Given the description of an element on the screen output the (x, y) to click on. 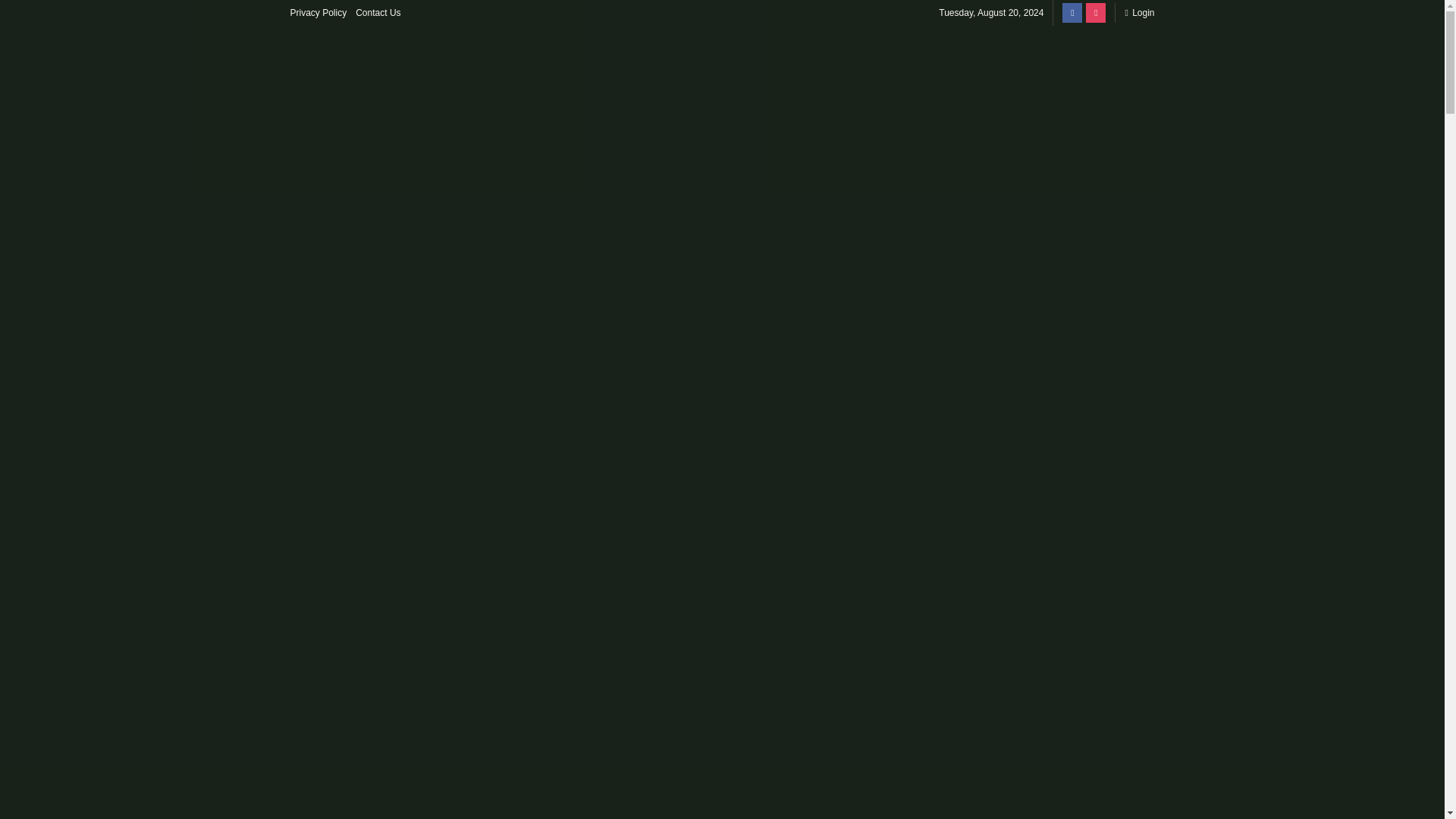
Privacy Policy (317, 12)
Contact Us (377, 12)
Login (1139, 12)
